Given the description of an element on the screen output the (x, y) to click on. 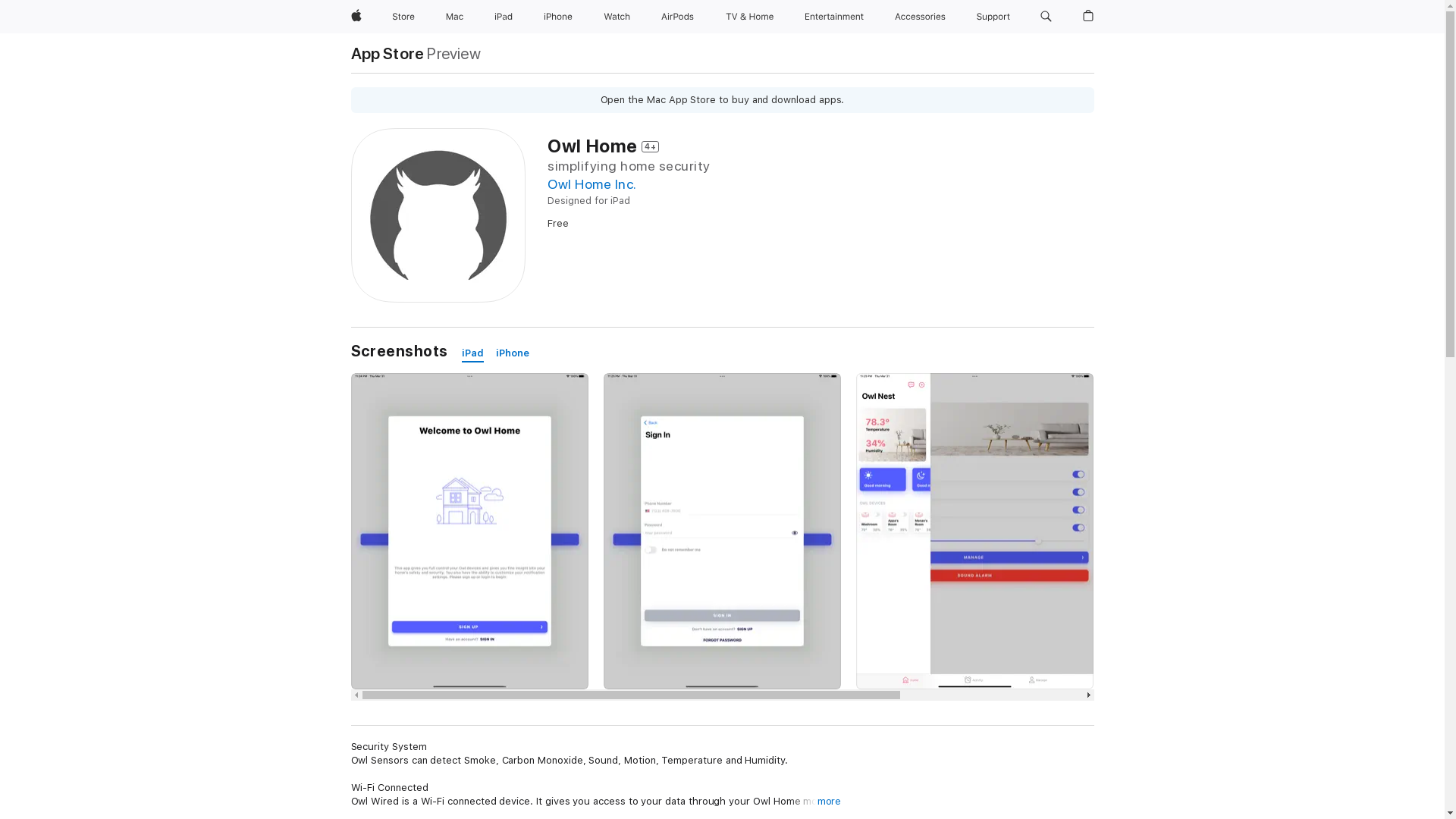
Apple Element type: text (355, 16)
Store Element type: text (402, 16)
more Element type: text (829, 801)
iPad Element type: text (503, 16)
Support Element type: text (993, 16)
iPad Element type: text (472, 353)
Entertainment Element type: text (834, 16)
iPhone Element type: text (512, 353)
Owl Home Inc. Element type: text (591, 183)
App Store Element type: text (386, 53)
AirPods Element type: text (677, 16)
Accessories Element type: text (919, 16)
TV & Home Element type: text (749, 16)
Mac Element type: text (454, 16)
Watch Element type: text (616, 16)
iPhone Element type: text (557, 16)
